Given the description of an element on the screen output the (x, y) to click on. 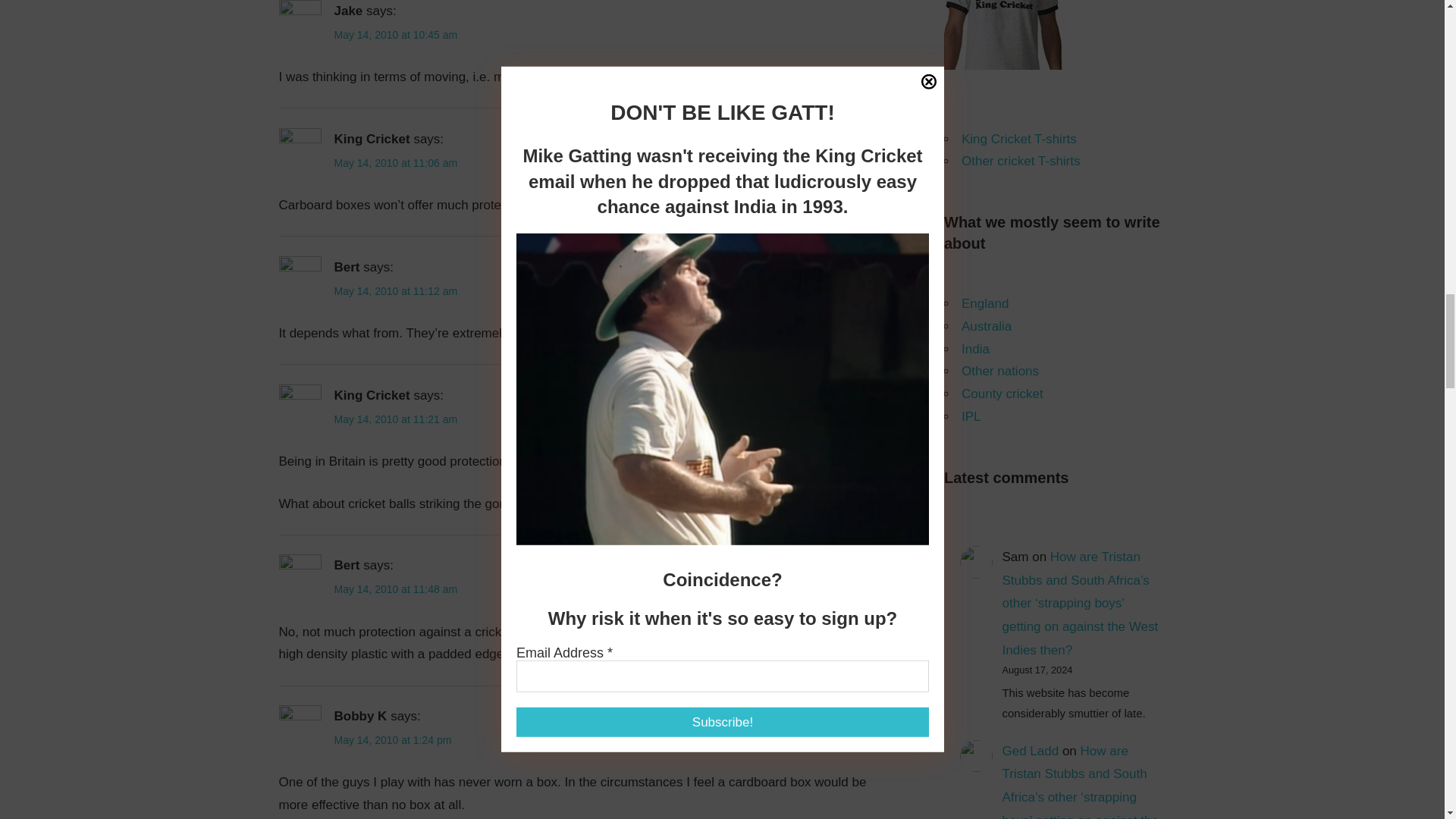
May 14, 2010 at 11:06 am (395, 162)
May 14, 2010 at 10:45 am (395, 34)
May 14, 2010 at 11:12 am (395, 291)
